Given the description of an element on the screen output the (x, y) to click on. 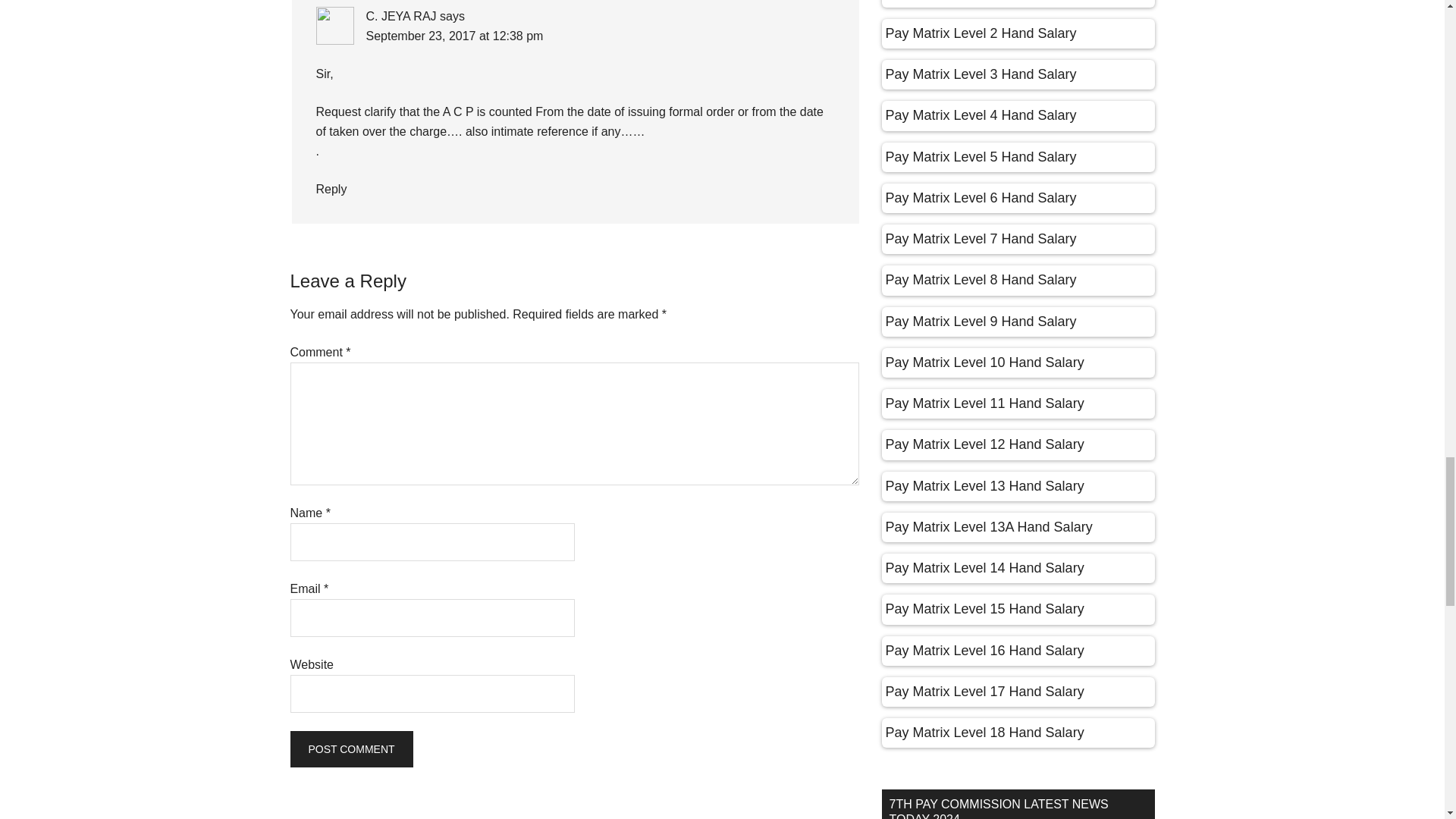
Post Comment (350, 749)
Reply (330, 188)
September 23, 2017 at 12:38 pm (454, 35)
Post Comment (350, 749)
